Given the description of an element on the screen output the (x, y) to click on. 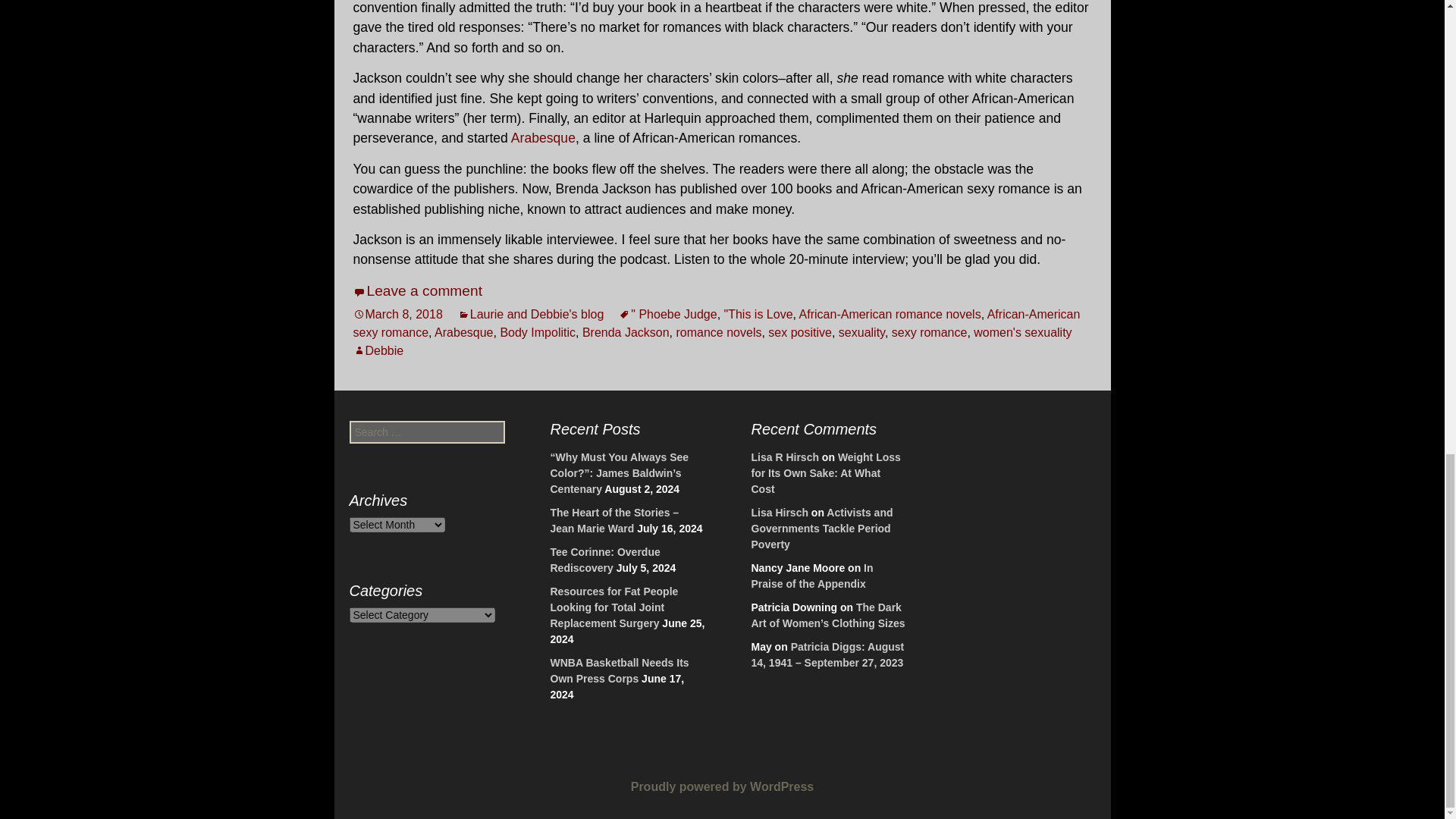
African-American romance novels (890, 314)
African-American sexy romance (716, 323)
romance novels (719, 332)
Arabesque (543, 137)
"This is Love (758, 314)
Brenda Jackson (625, 332)
Arabesque (463, 332)
sexuality (861, 332)
March 8, 2018 (397, 314)
View all posts by Debbie (378, 350)
Laurie and Debbie's blog (531, 314)
Leave a comment (418, 290)
" Phoebe Judge (667, 314)
sex positive (799, 332)
